Given the description of an element on the screen output the (x, y) to click on. 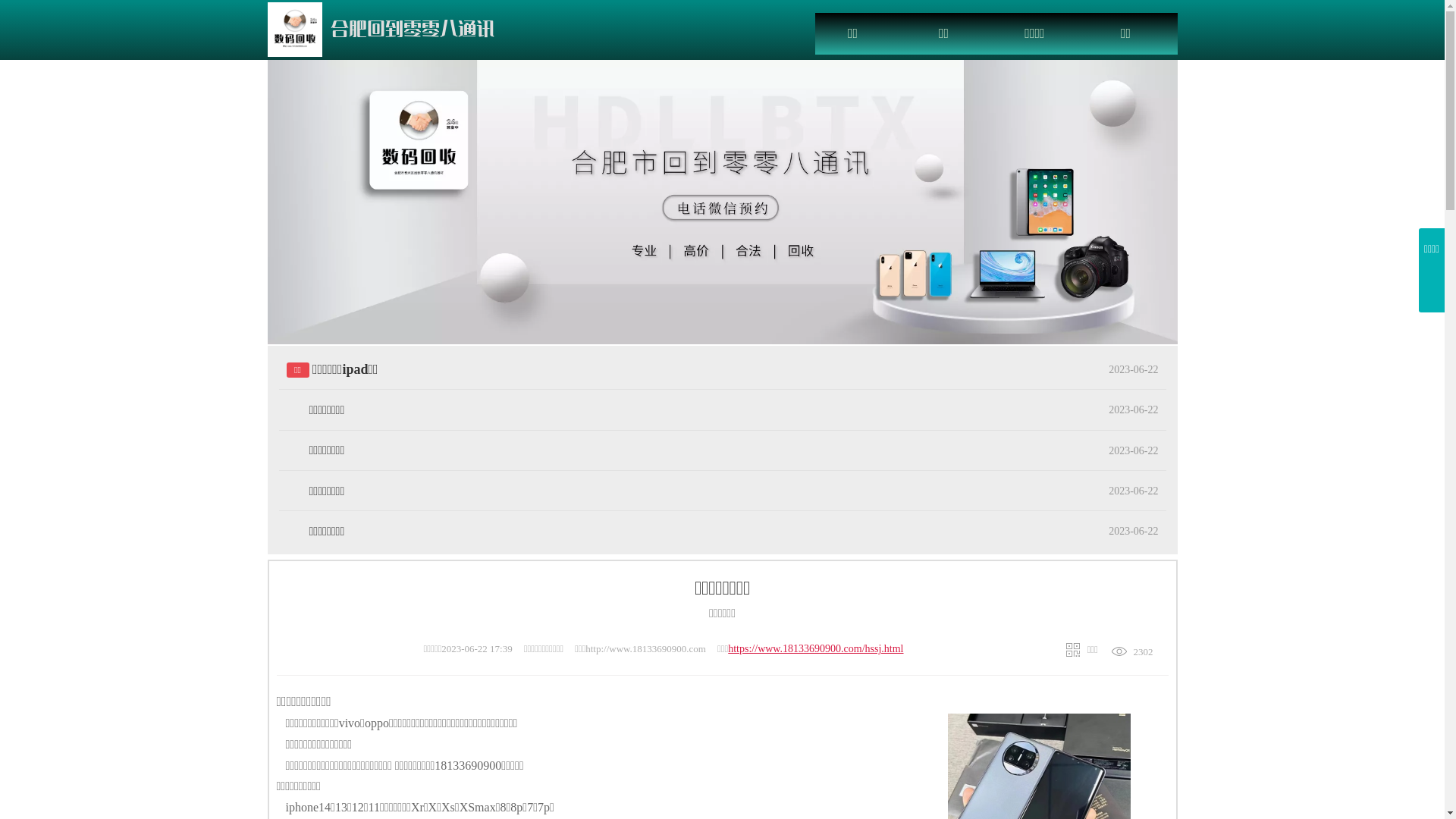
https://www.18133690900.com/hssj.html Element type: text (815, 648)
